Given the description of an element on the screen output the (x, y) to click on. 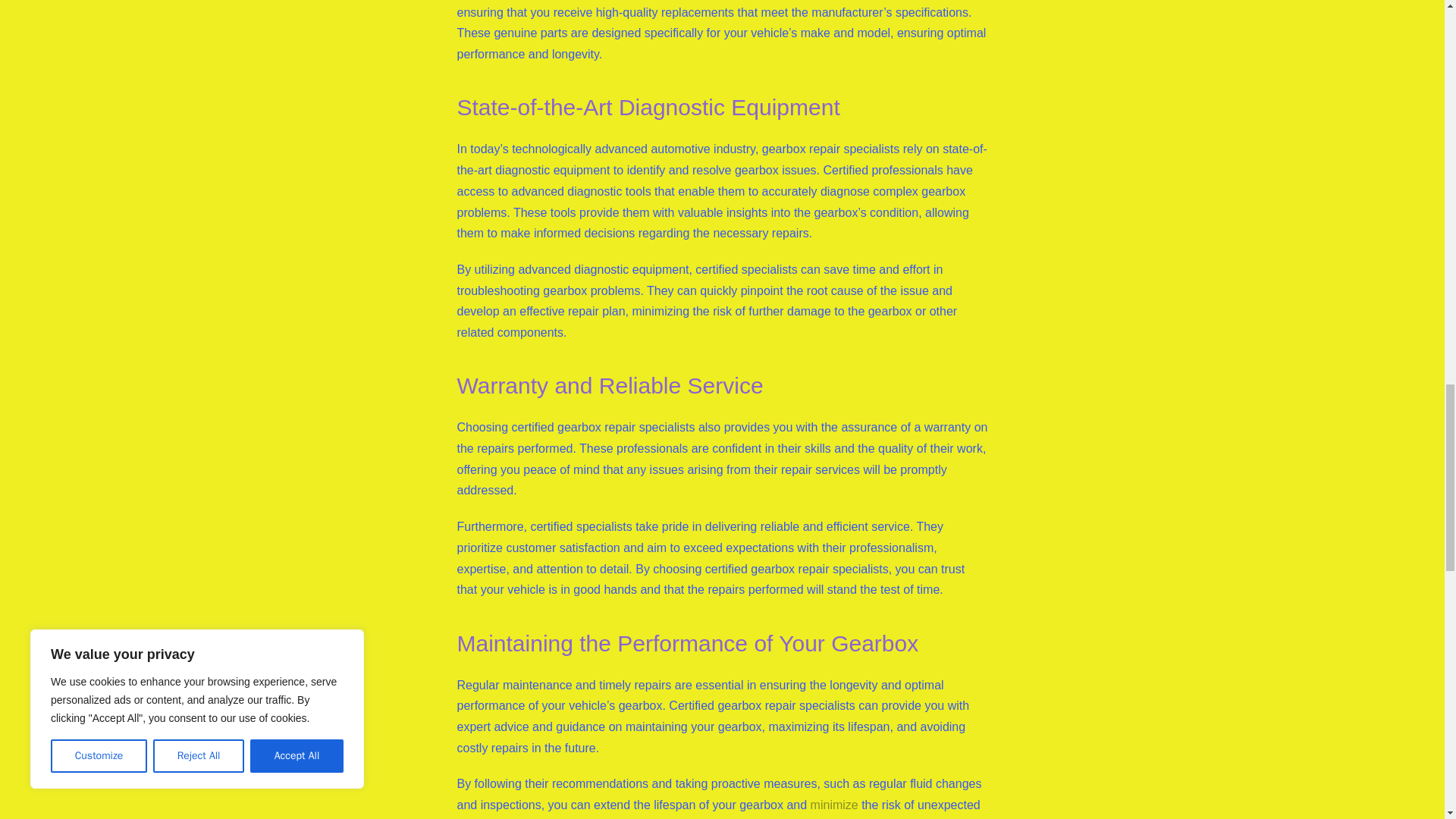
minimize (834, 804)
